Given the description of an element on the screen output the (x, y) to click on. 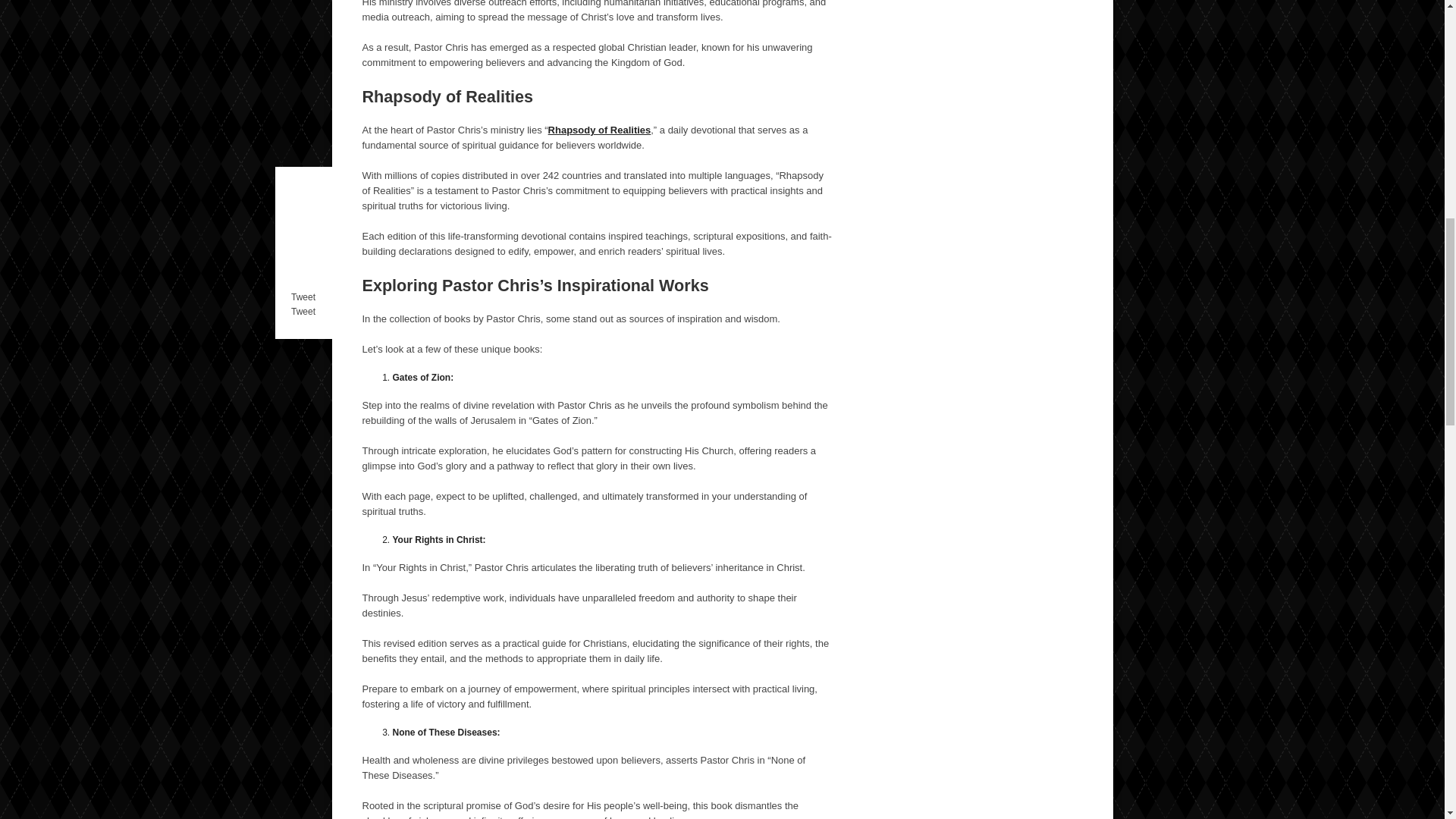
Rhapsody of Realities (599, 129)
